Given the description of an element on the screen output the (x, y) to click on. 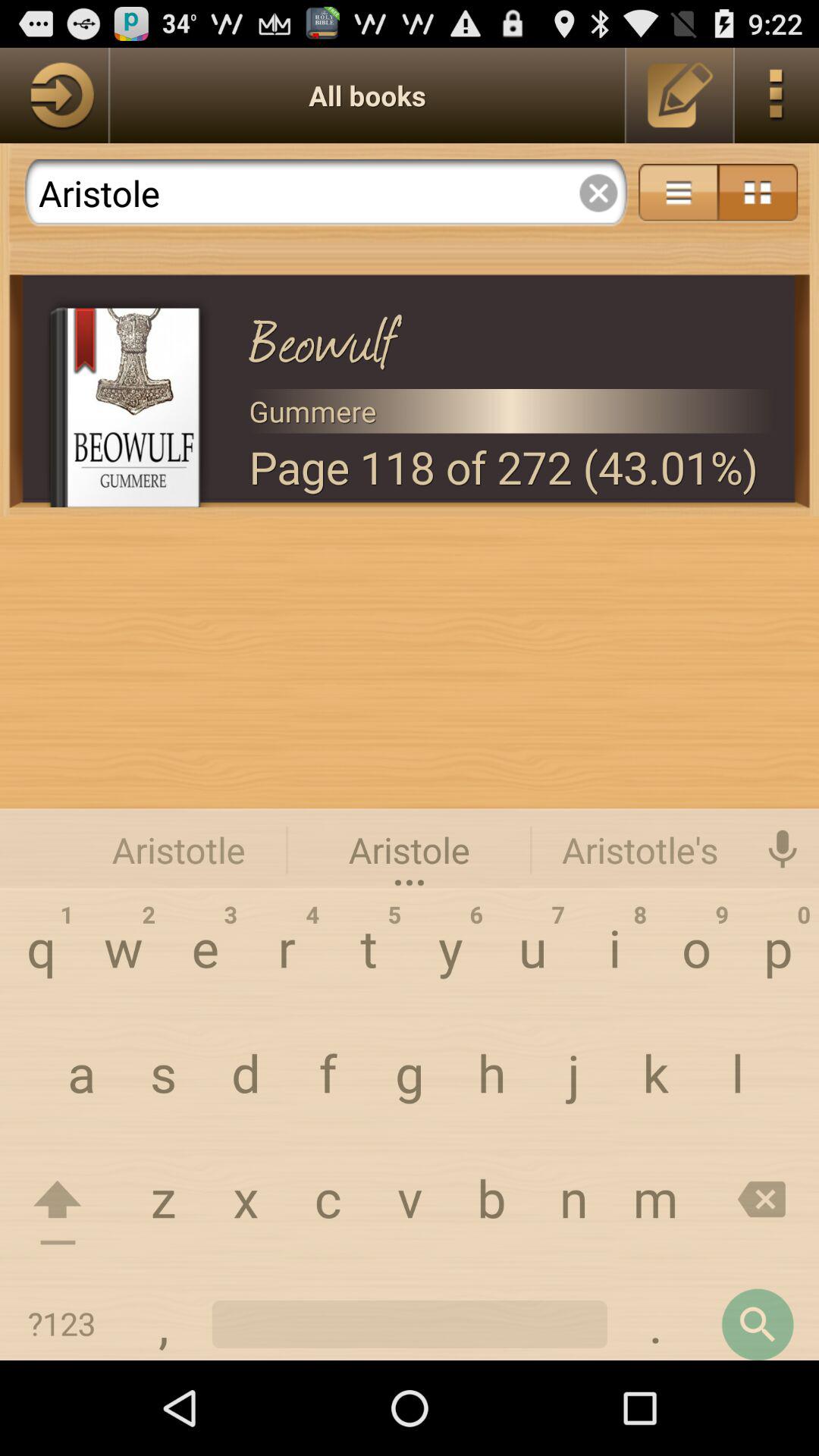
go to menu (757, 192)
